Given the description of an element on the screen output the (x, y) to click on. 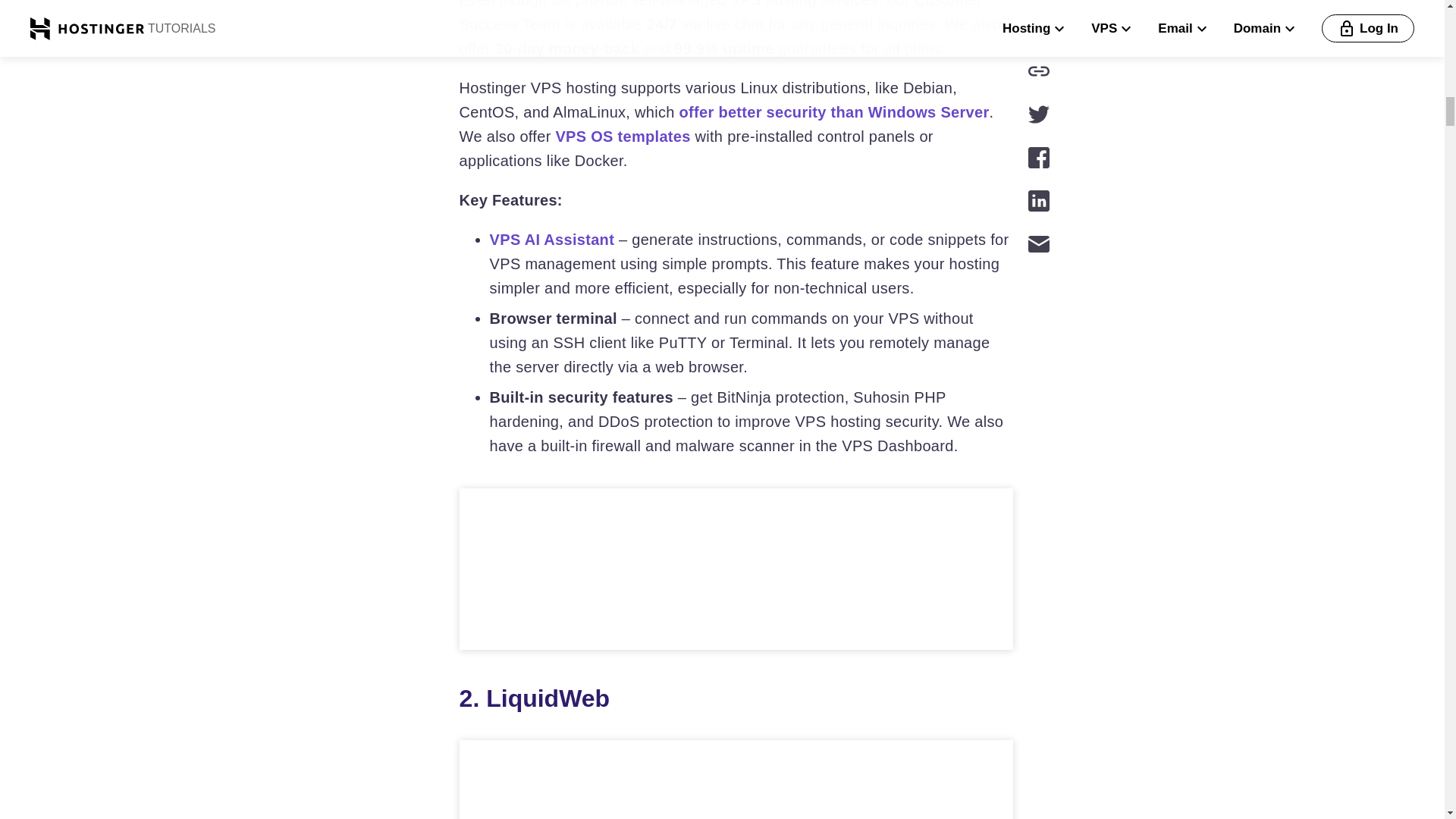
VPS OS templates (622, 135)
offer better security than Windows Server (834, 112)
VPS AI Assistant (551, 239)
